Given the description of an element on the screen output the (x, y) to click on. 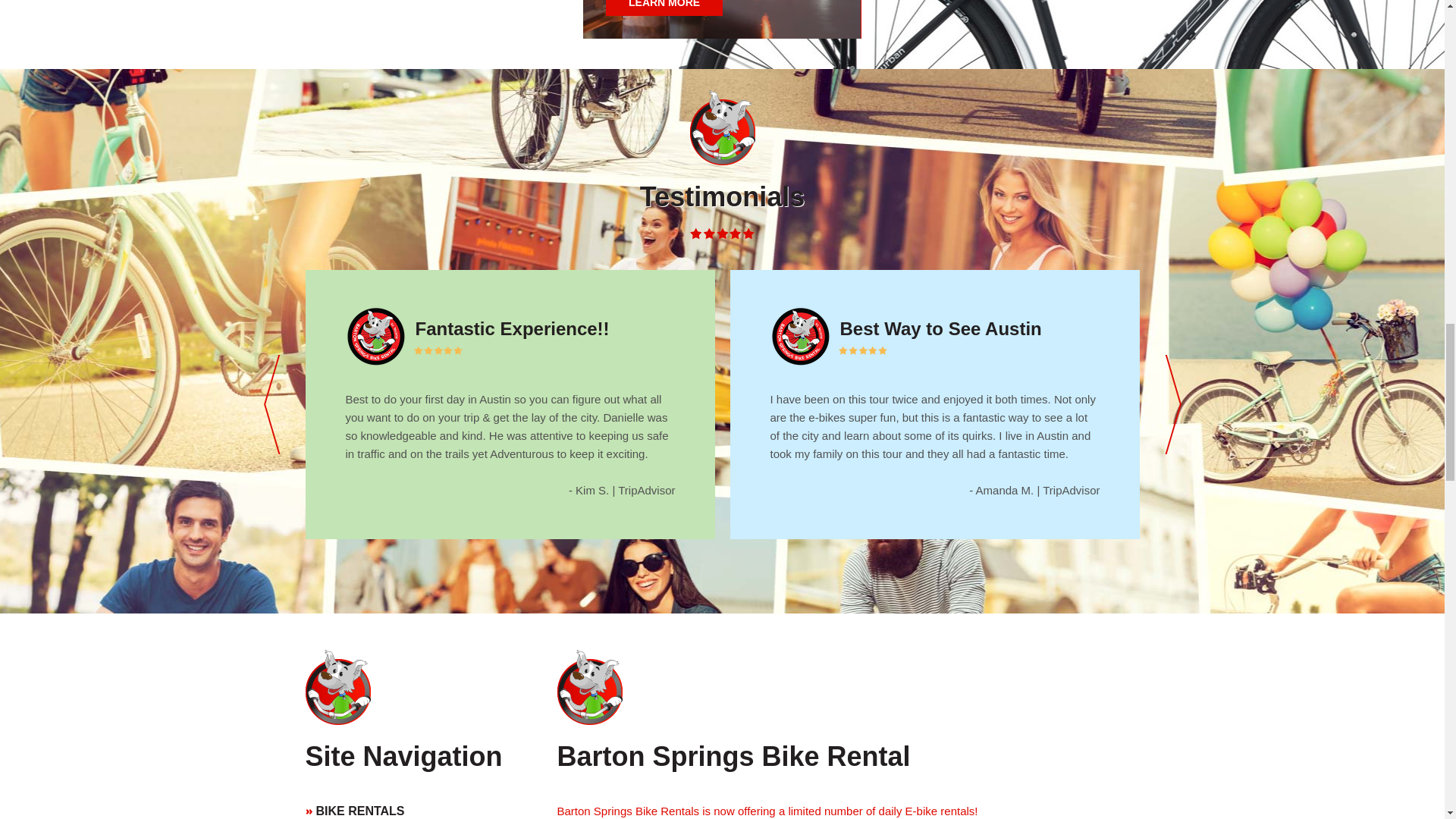
BIKE RENTALS (403, 805)
